Given the description of an element on the screen output the (x, y) to click on. 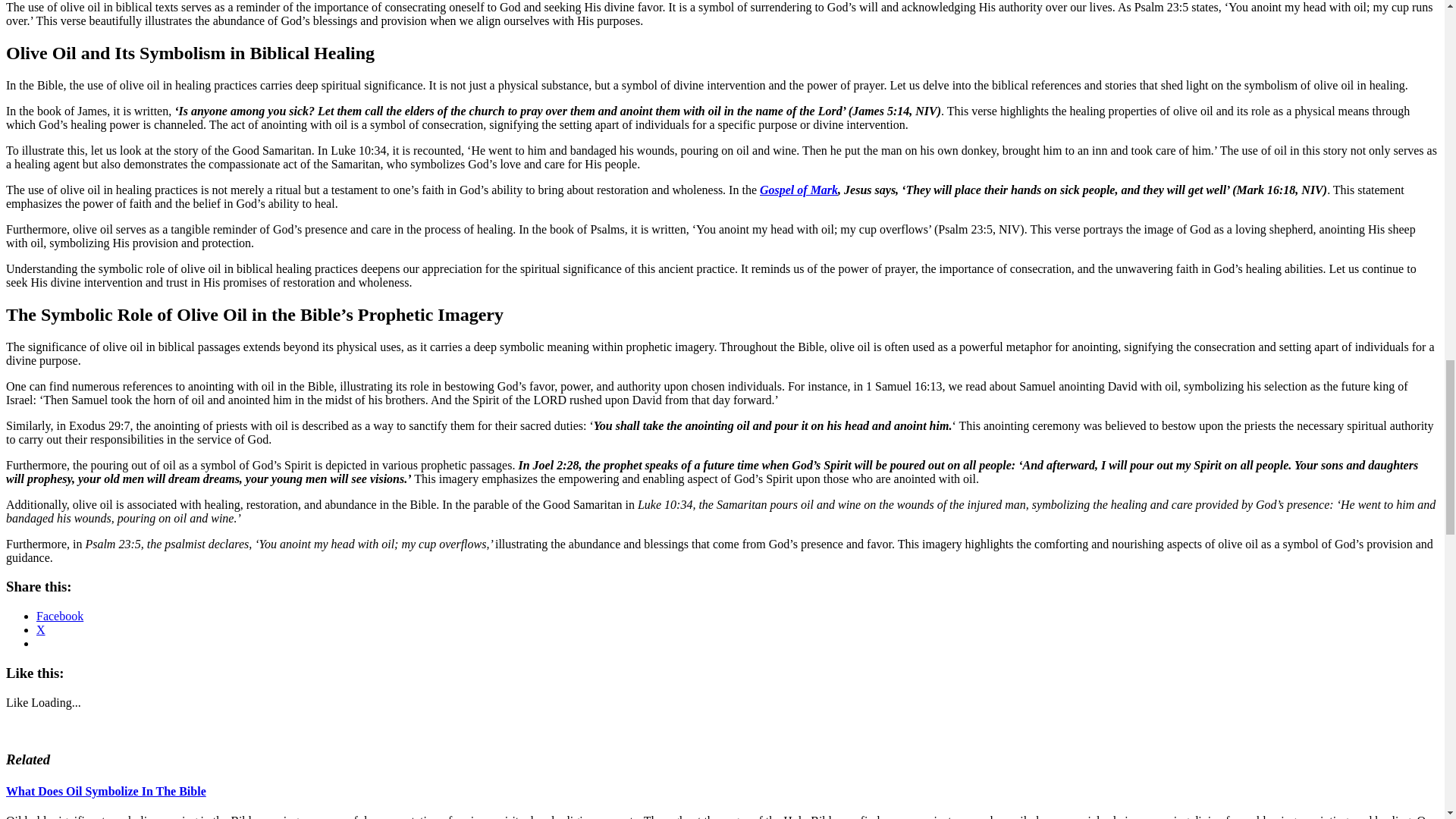
Gospel of Mark (799, 189)
Click to share on Facebook (59, 615)
Facebook (59, 615)
What Does Oil Symbolize In The Bible (105, 790)
What Does Oil Symbolize In The Bible (105, 790)
